Given the description of an element on the screen output the (x, y) to click on. 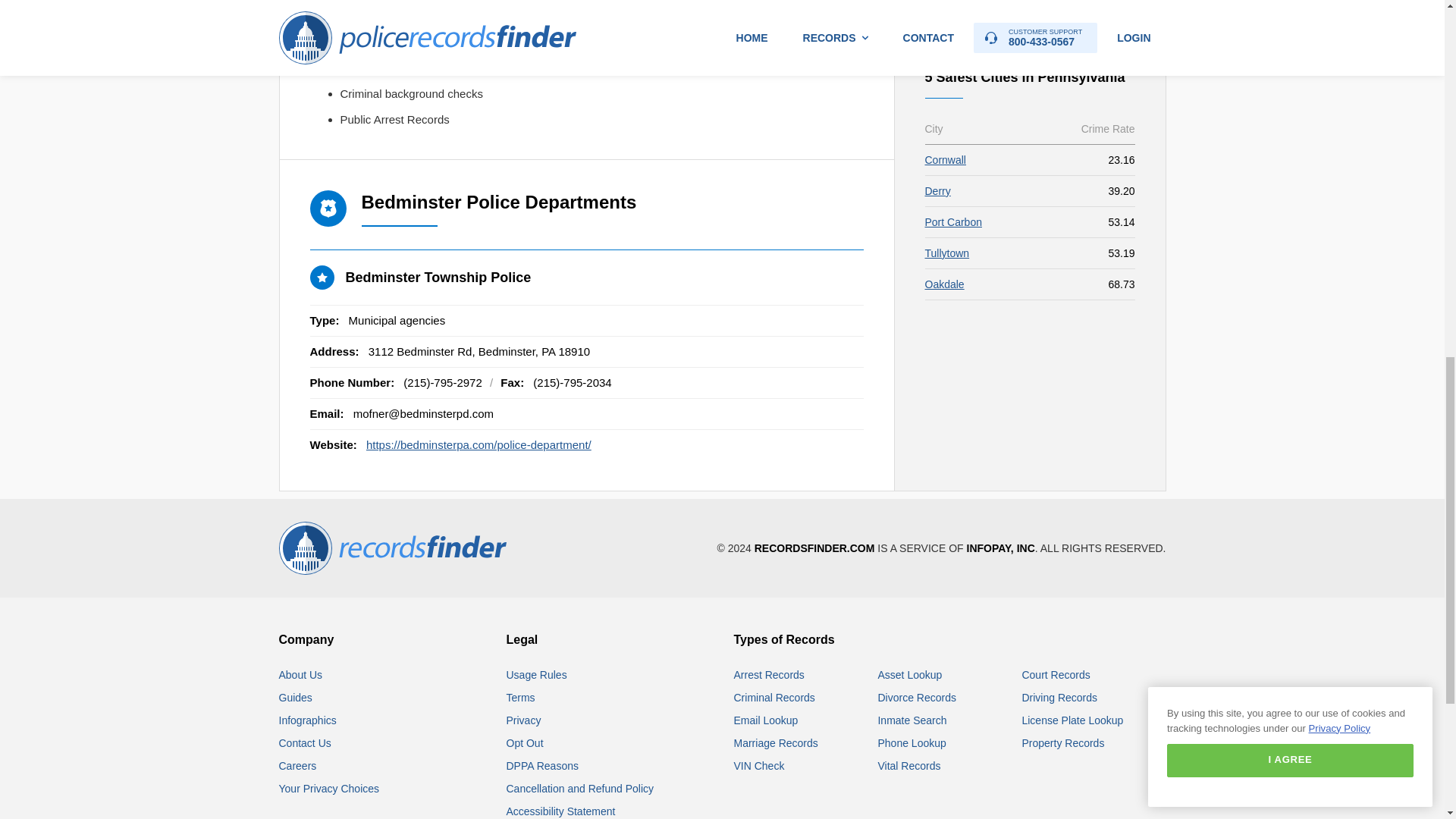
RecordsFinder.com Privacy Policy (523, 720)
Guides and How tos (296, 697)
RecordsFinder.com Opt Out Instructions (524, 743)
RecordsFinder.com Usage Rules (536, 674)
RecordsFinder.com Cancellation and Refund Policy (579, 788)
RecordsFinder.com Accessibility Statement (560, 811)
RecordsFinder.com DPPA Reasons (542, 766)
RecordsFinder.com Terms and Conditions (520, 697)
Careers at RecordsFinder.com (298, 766)
About RecordsFinder.com (301, 674)
